Given the description of an element on the screen output the (x, y) to click on. 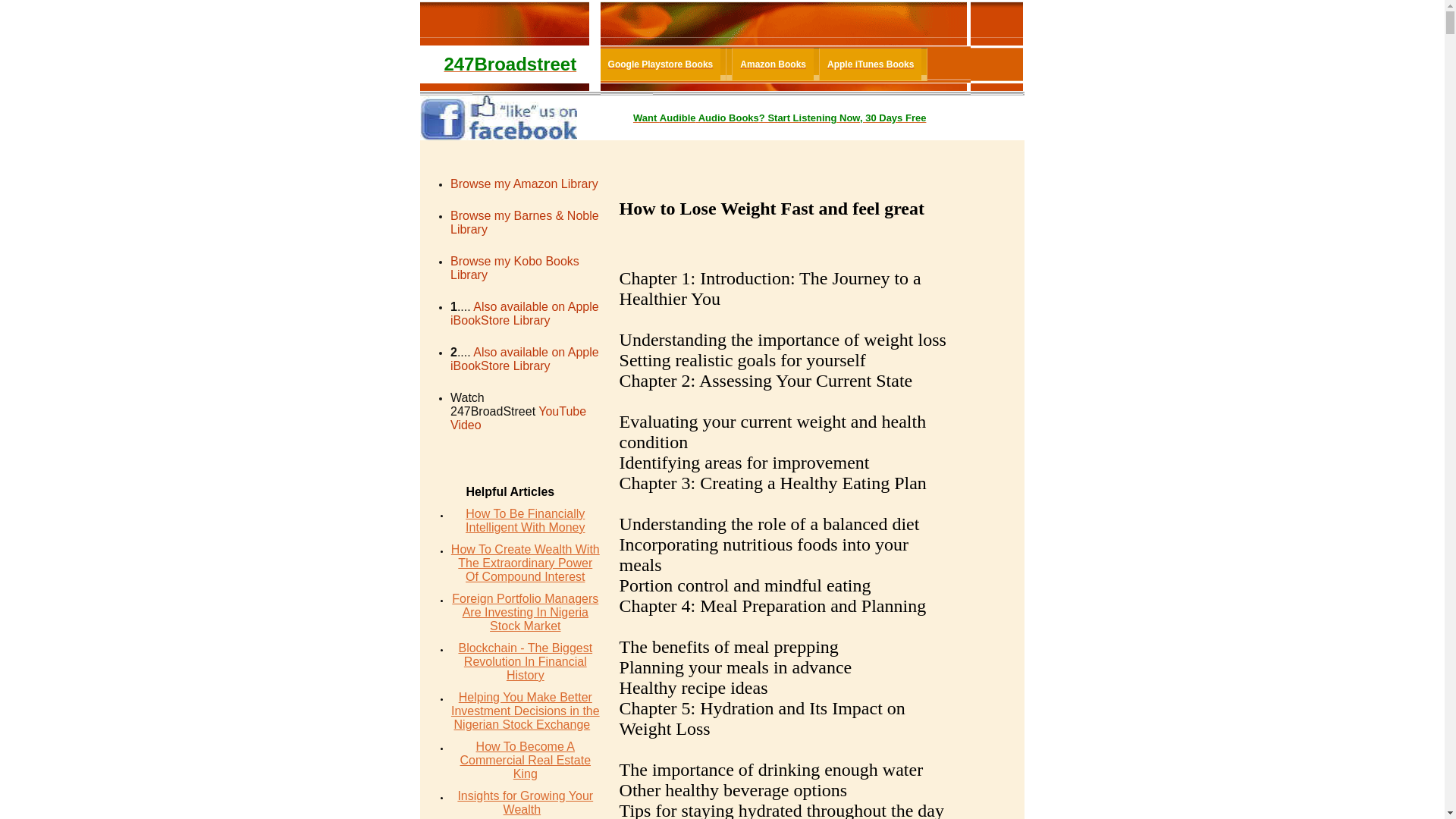
Browse my Amazon Library Element type: text (524, 184)
Want Audible Audio Books? Start Listening Now, 30 Days Free Element type: text (779, 117)
Browse my Kobo Books Library Element type: text (514, 268)
Also available on Apple iBookStore Library Element type: text (524, 358)
Amazon Books Element type: text (773, 64)
Apple iTunes Books Element type: text (870, 64)
247Broadstreet Element type: text (509, 67)
Google Playstore Books Element type: text (660, 64)
Browse my Barnes & Noble Library Element type: text (524, 223)
Also available on Apple iBookStore Library Element type: text (524, 313)
Insights for Growing Your Wealth Element type: text (525, 802)
How To Be Financially Intelligent With Money Element type: text (524, 520)
How To Become A Commercial Real Estate King Element type: text (525, 760)
YouTube Video Element type: text (518, 417)
Blockchain - The Biggest Revolution In Financial History Element type: text (525, 661)
